Given the description of an element on the screen output the (x, y) to click on. 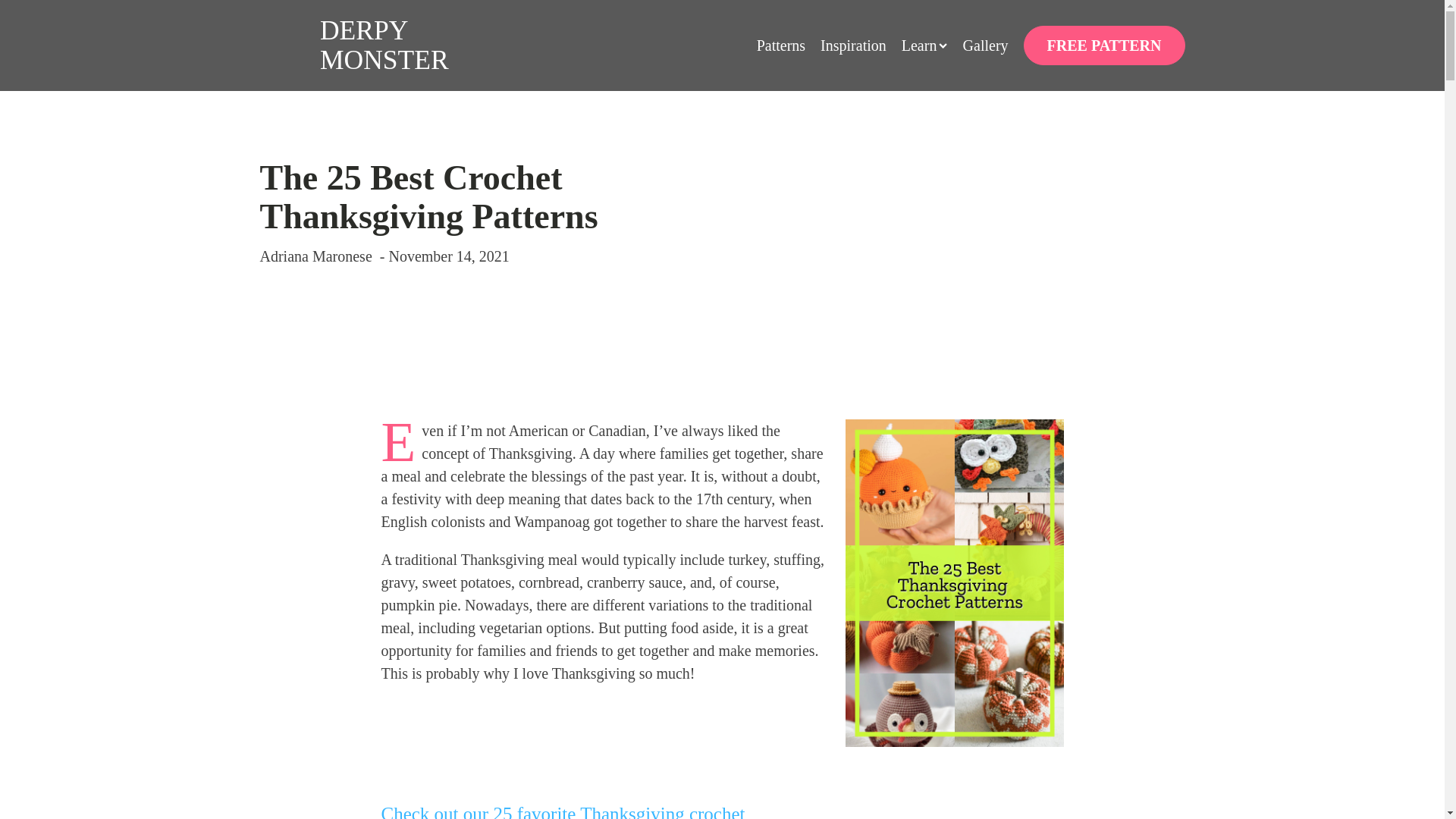
DERPY MONSTER (355, 45)
Patterns (781, 45)
Learn (924, 45)
Inspiration (853, 45)
FREE PATTERN (1104, 45)
Gallery (985, 45)
